Given the description of an element on the screen output the (x, y) to click on. 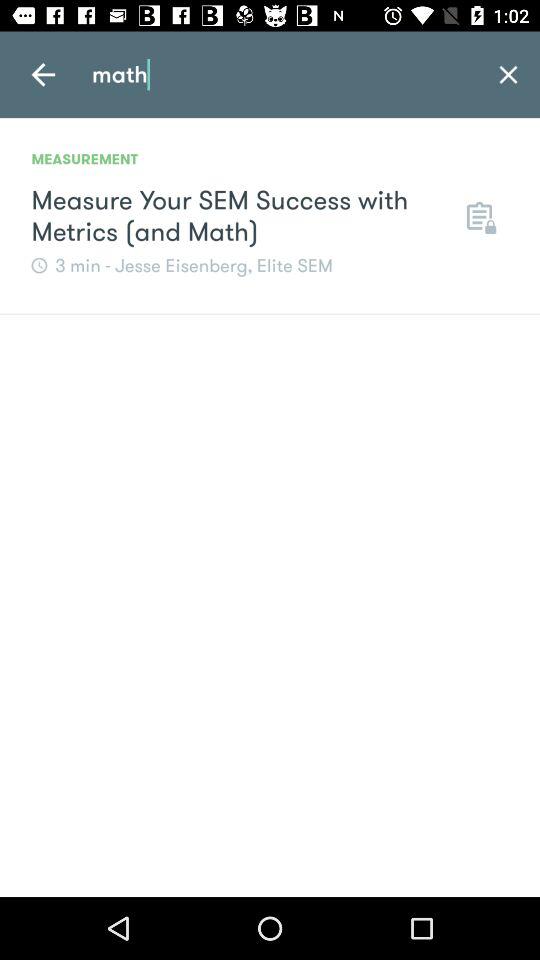
tap item to the right of measure your sem item (479, 216)
